Given the description of an element on the screen output the (x, y) to click on. 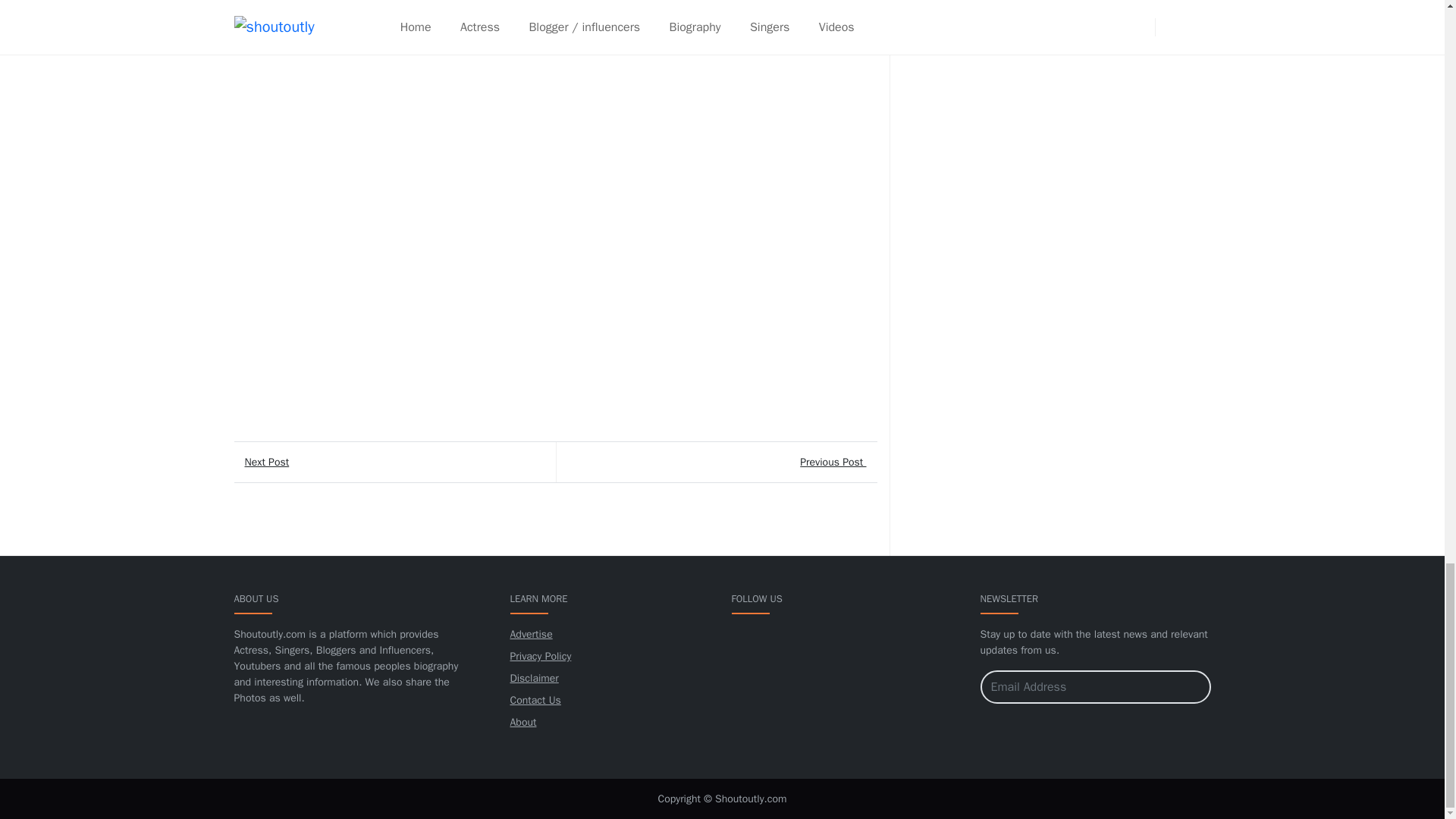
Next Post (393, 462)
Previous Post (715, 462)
Advertisement (1015, 109)
